Given the description of an element on the screen output the (x, y) to click on. 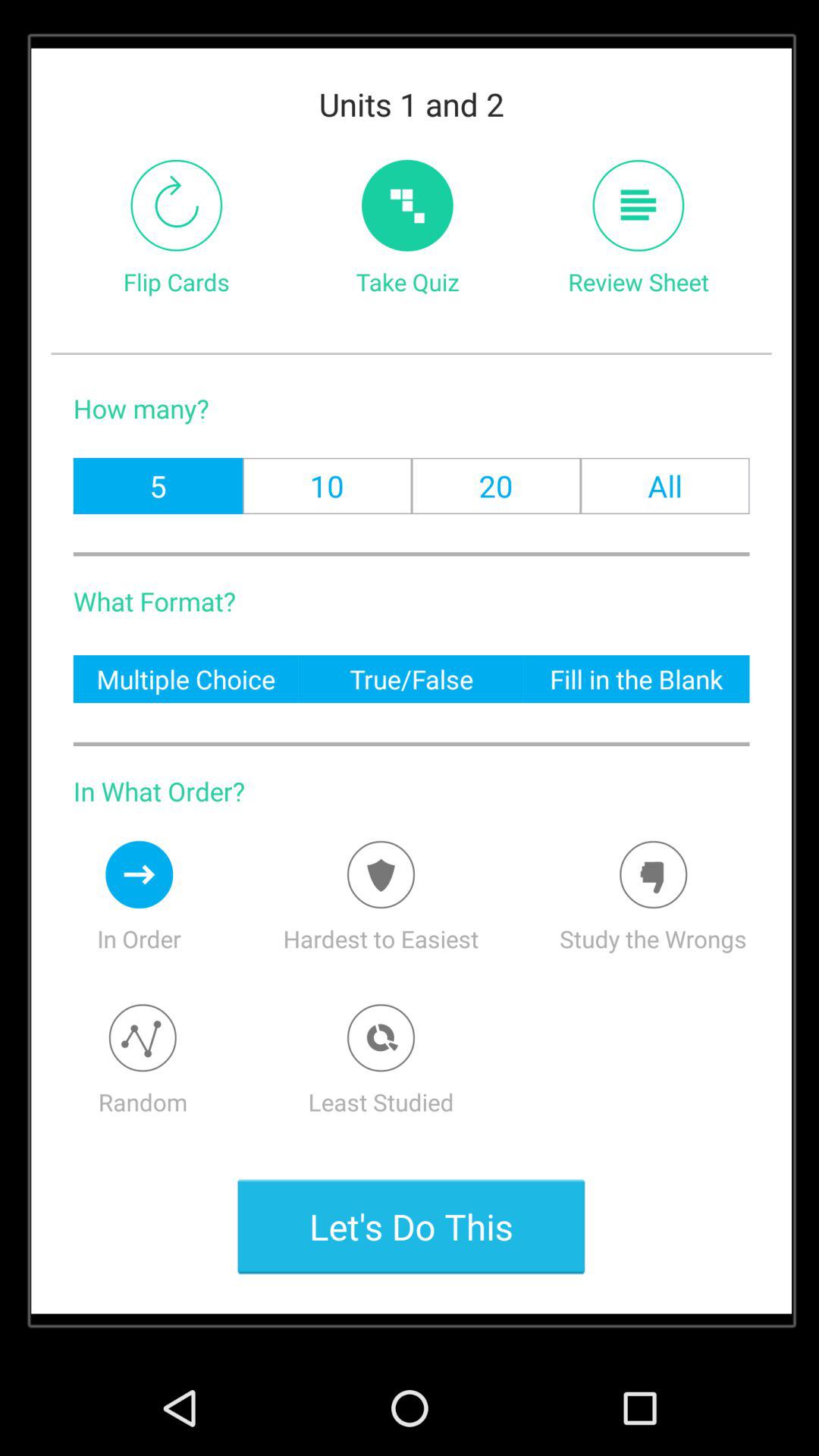
tap item next to take quiz (176, 205)
